Given the description of an element on the screen output the (x, y) to click on. 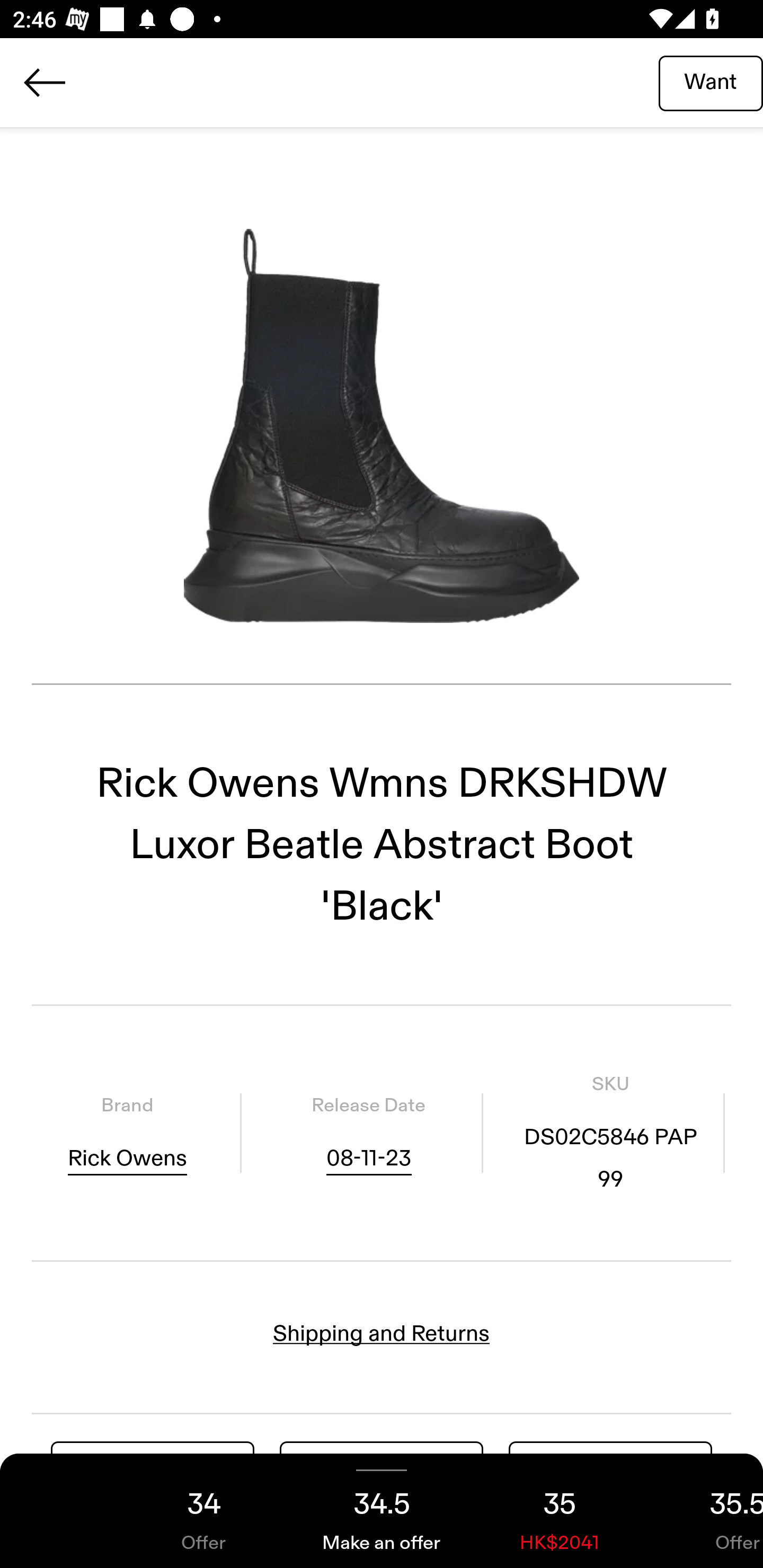
Want (710, 82)
Brand Rick Owens (126, 1133)
Release Date 08-11-23 (368, 1133)
SKU DS02C5846 PAP 99 (609, 1133)
Shipping and Returns (381, 1333)
34 Offer (203, 1510)
34.5 Make an offer (381, 1510)
35 HK$2041 (559, 1510)
35.5 Offer (705, 1510)
